Given the description of an element on the screen output the (x, y) to click on. 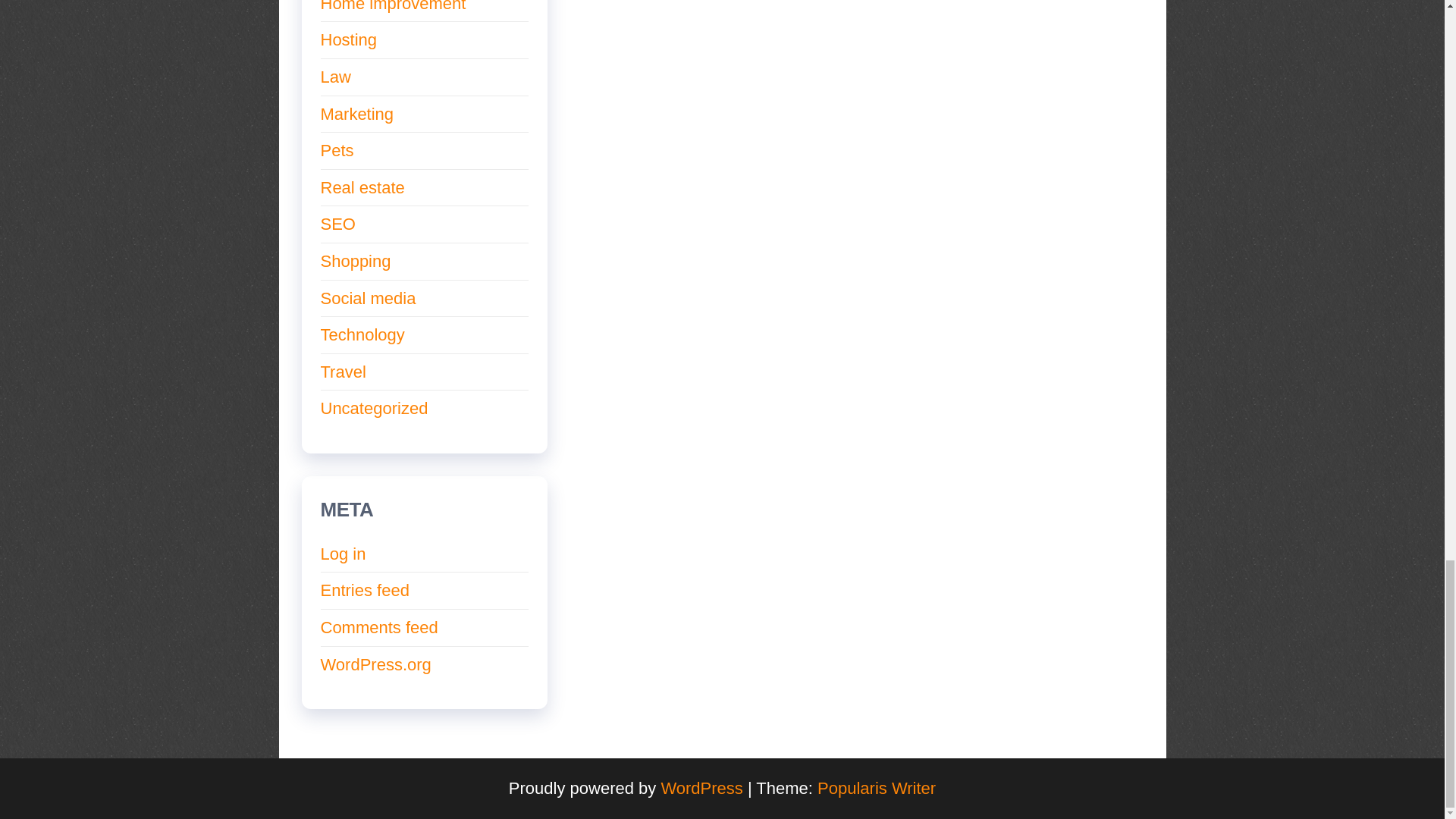
Pets (336, 149)
Home improvement (392, 6)
Social media (367, 297)
Real estate (362, 187)
Shopping (355, 261)
Hosting (348, 39)
Marketing (356, 113)
SEO (337, 223)
Law (335, 76)
